Given the description of an element on the screen output the (x, y) to click on. 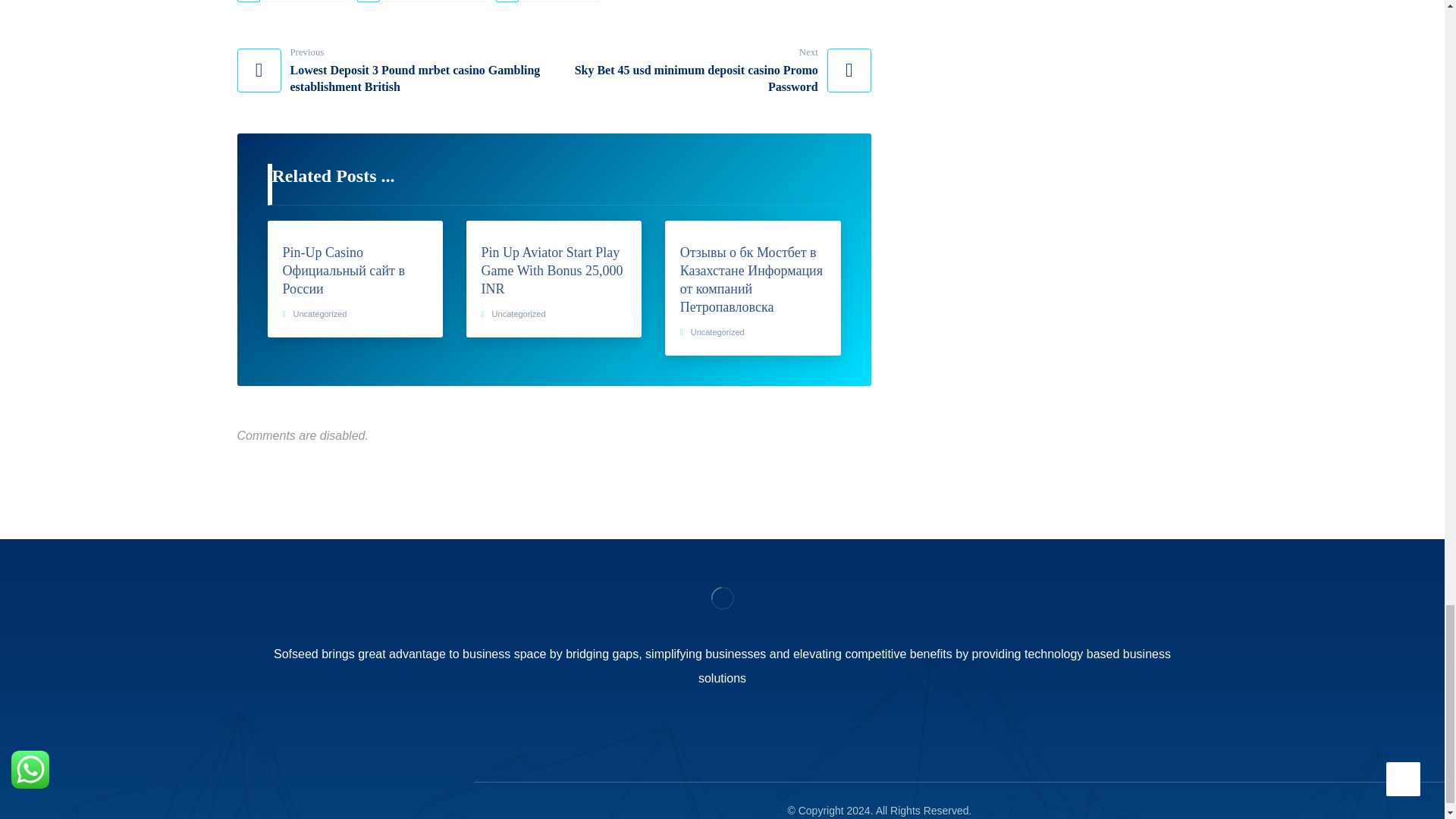
Pin Up Aviator Start Play Game With Bonus 25,000 INR (554, 270)
icon (507, 1)
Uncategorized (320, 313)
September 14, 2022 (433, 1)
Uncategorized (560, 1)
icon (368, 1)
Uncategorized (519, 313)
icon (247, 1)
Jobinchristonraj (304, 1)
